Given the description of an element on the screen output the (x, y) to click on. 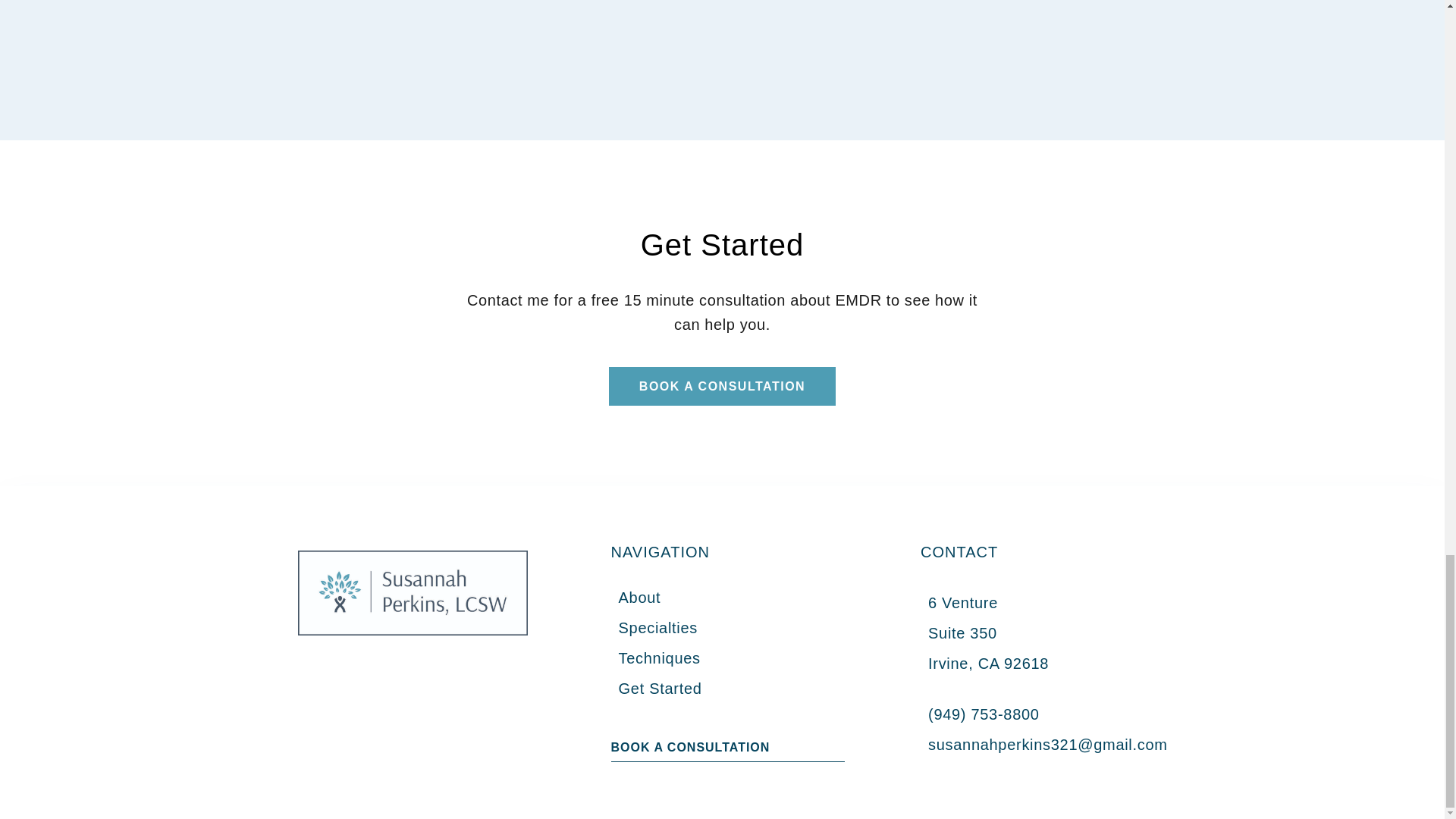
BOOK A CONSULTATION (690, 748)
BOOK A CONSULTATION (721, 386)
